Given the description of an element on the screen output the (x, y) to click on. 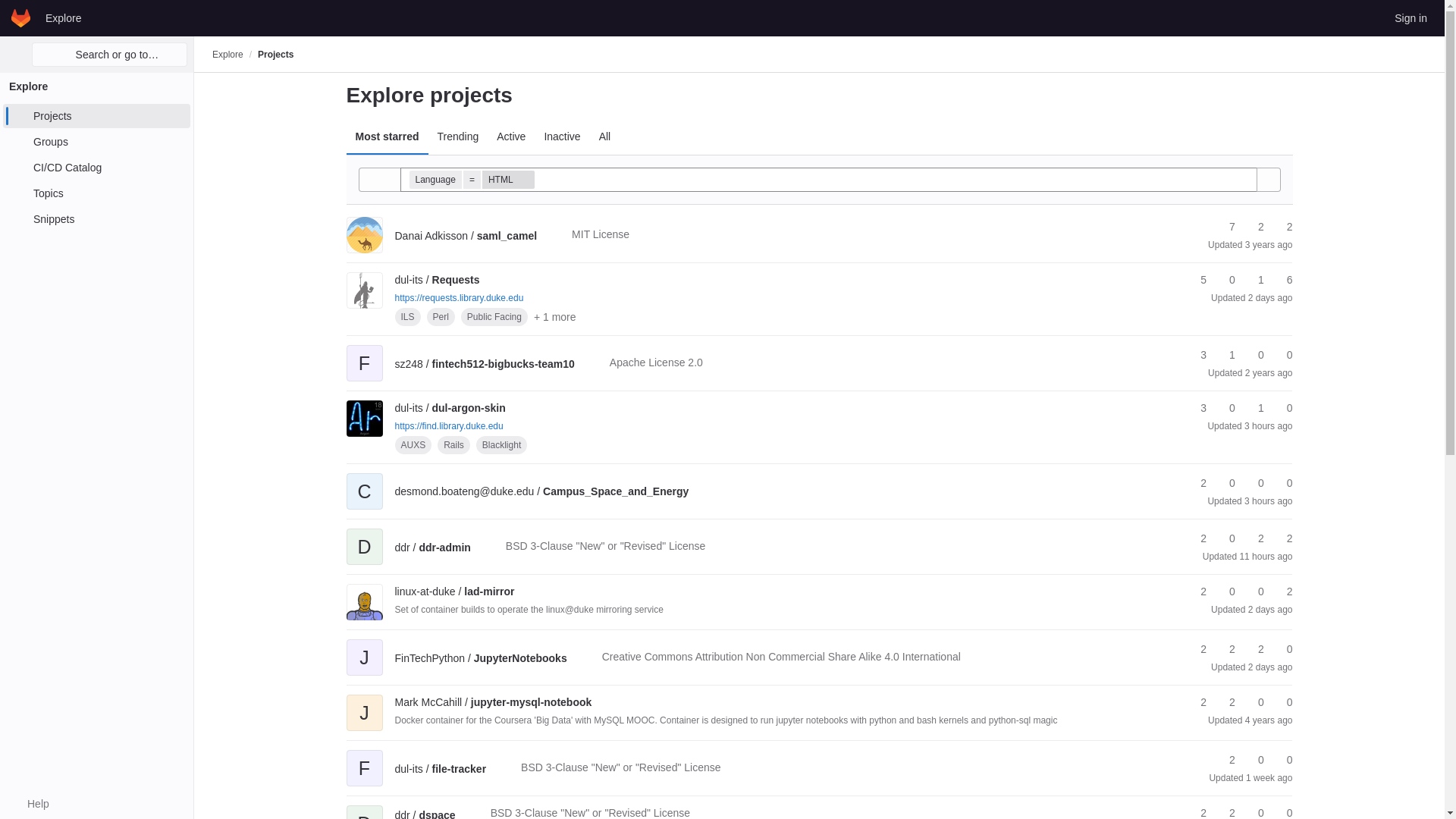
Projects (96, 115)
Stars (1196, 279)
Forks (1253, 227)
Stars (1224, 227)
Clear (1243, 179)
Homepage (20, 17)
Explore (63, 17)
Snippets (96, 218)
2 (1253, 227)
Forks (1224, 279)
Inactive (561, 135)
Most starred (387, 135)
Help (30, 803)
Trending (457, 135)
7 (1224, 227)
